Given the description of an element on the screen output the (x, y) to click on. 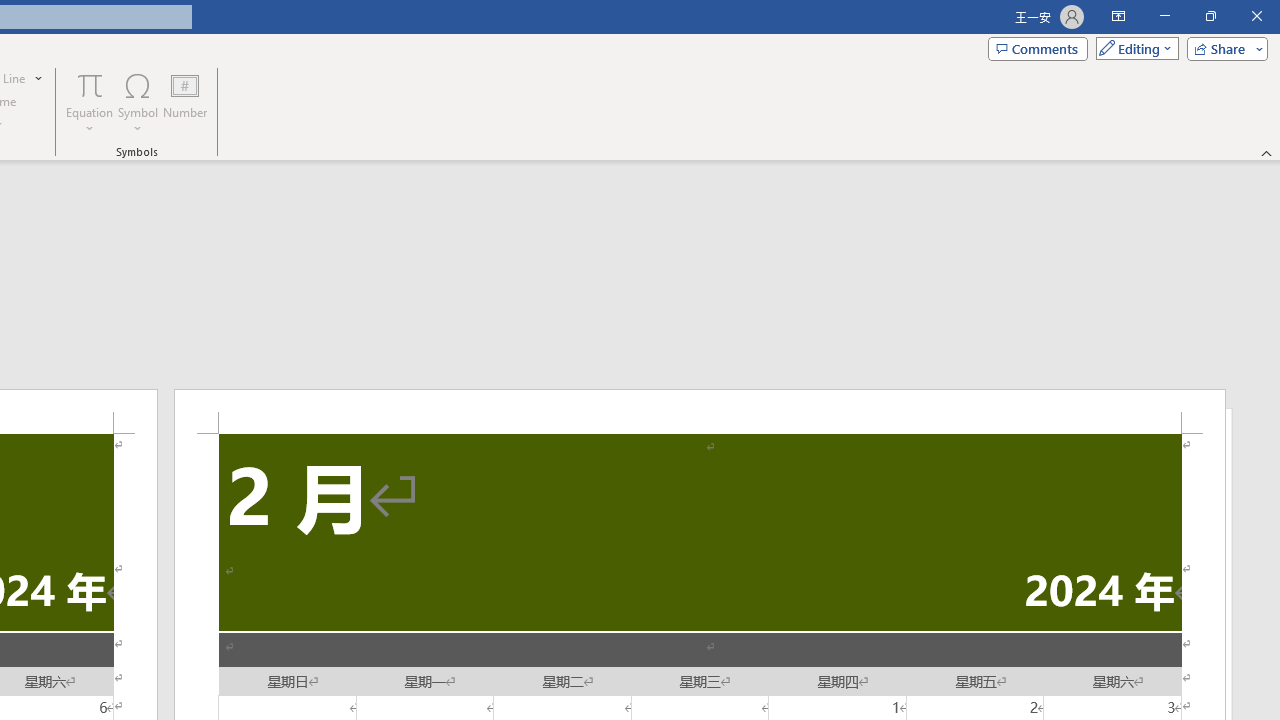
Number... (185, 102)
Symbol (138, 102)
Header -Section 2- (700, 411)
